Given the description of an element on the screen output the (x, y) to click on. 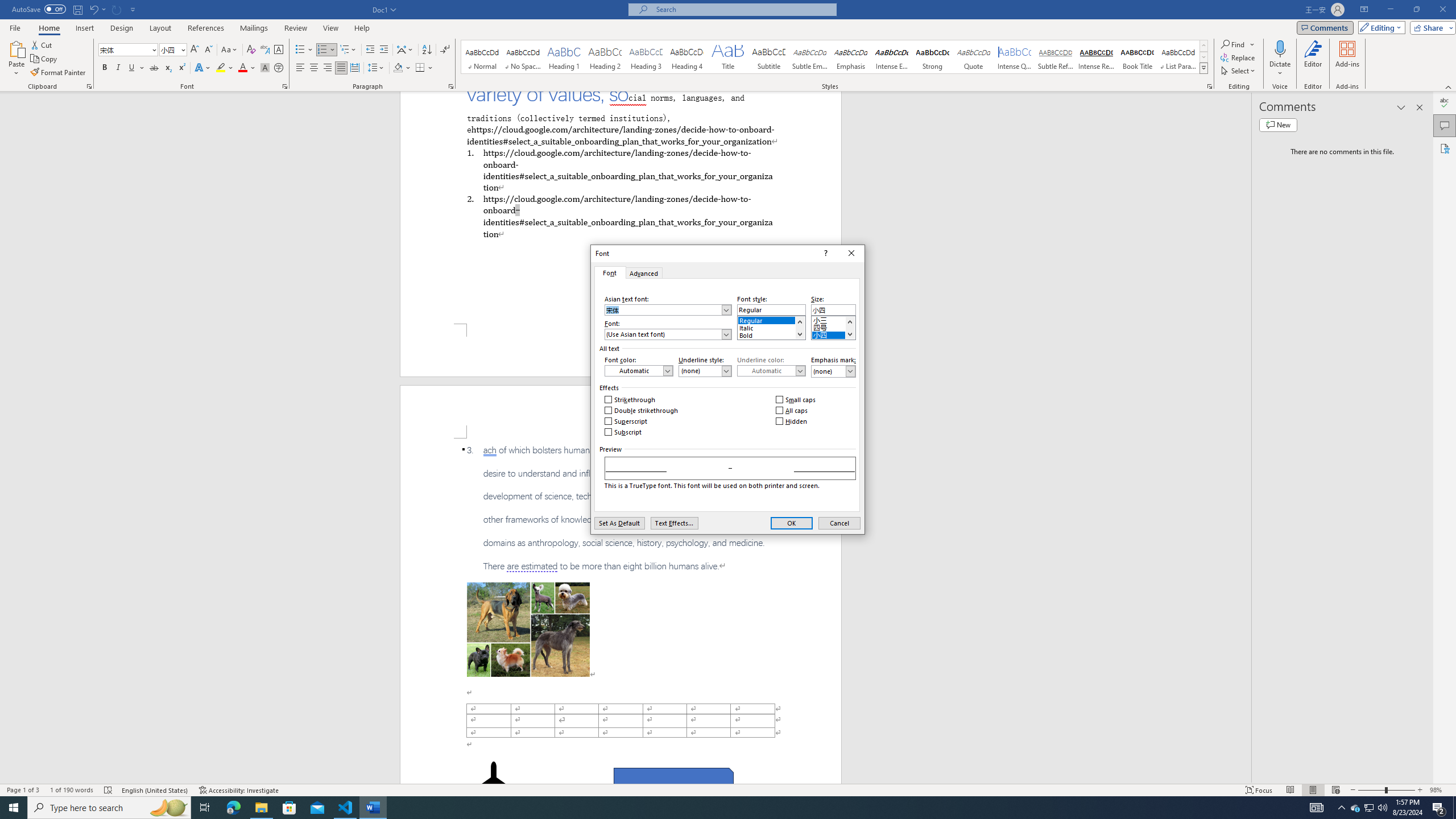
Hidden (792, 420)
Asian Layout (405, 49)
All caps (792, 410)
Shading (402, 67)
Bullets (300, 49)
Enclose Characters... (278, 67)
Help (361, 28)
View (330, 28)
Line down (849, 334)
Asian text font: (668, 309)
Character Border (278, 49)
Underline style: (705, 370)
Font Size (169, 49)
